Given the description of an element on the screen output the (x, y) to click on. 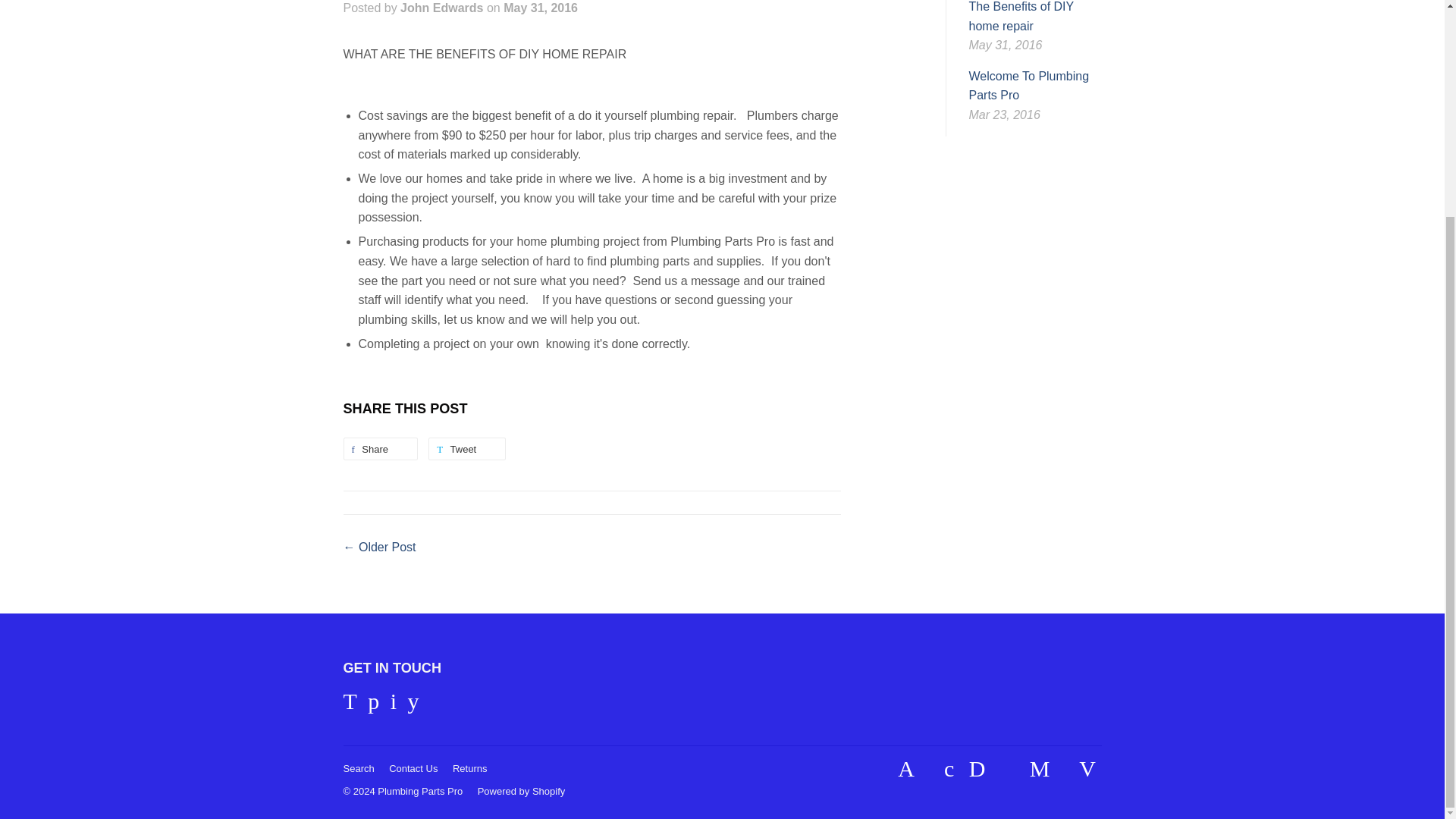
Welcome To Plumbing Parts Pro (1029, 85)
Tweet (466, 448)
Share (379, 448)
Plumbing Parts Pro on Twitter (349, 704)
The Benefits of DIY home repair (1021, 16)
